Given the description of an element on the screen output the (x, y) to click on. 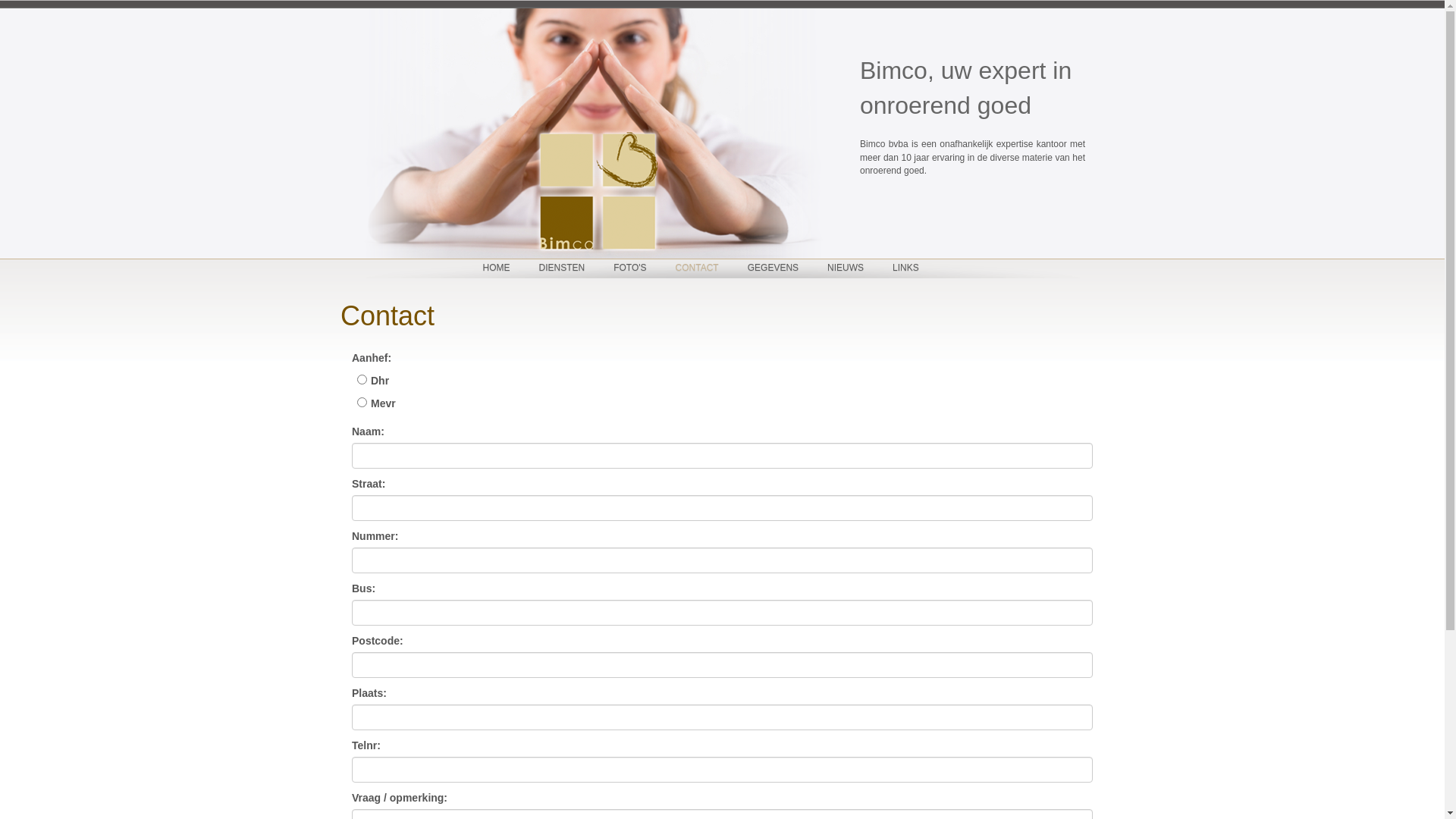
FOTO'S Element type: text (629, 267)
NIEUWS Element type: text (845, 267)
HOME Element type: text (496, 267)
DIENSTEN Element type: text (561, 267)
CONTACT Element type: text (697, 267)
LINKS Element type: text (905, 267)
GEGEVENS Element type: text (772, 267)
